Given the description of an element on the screen output the (x, y) to click on. 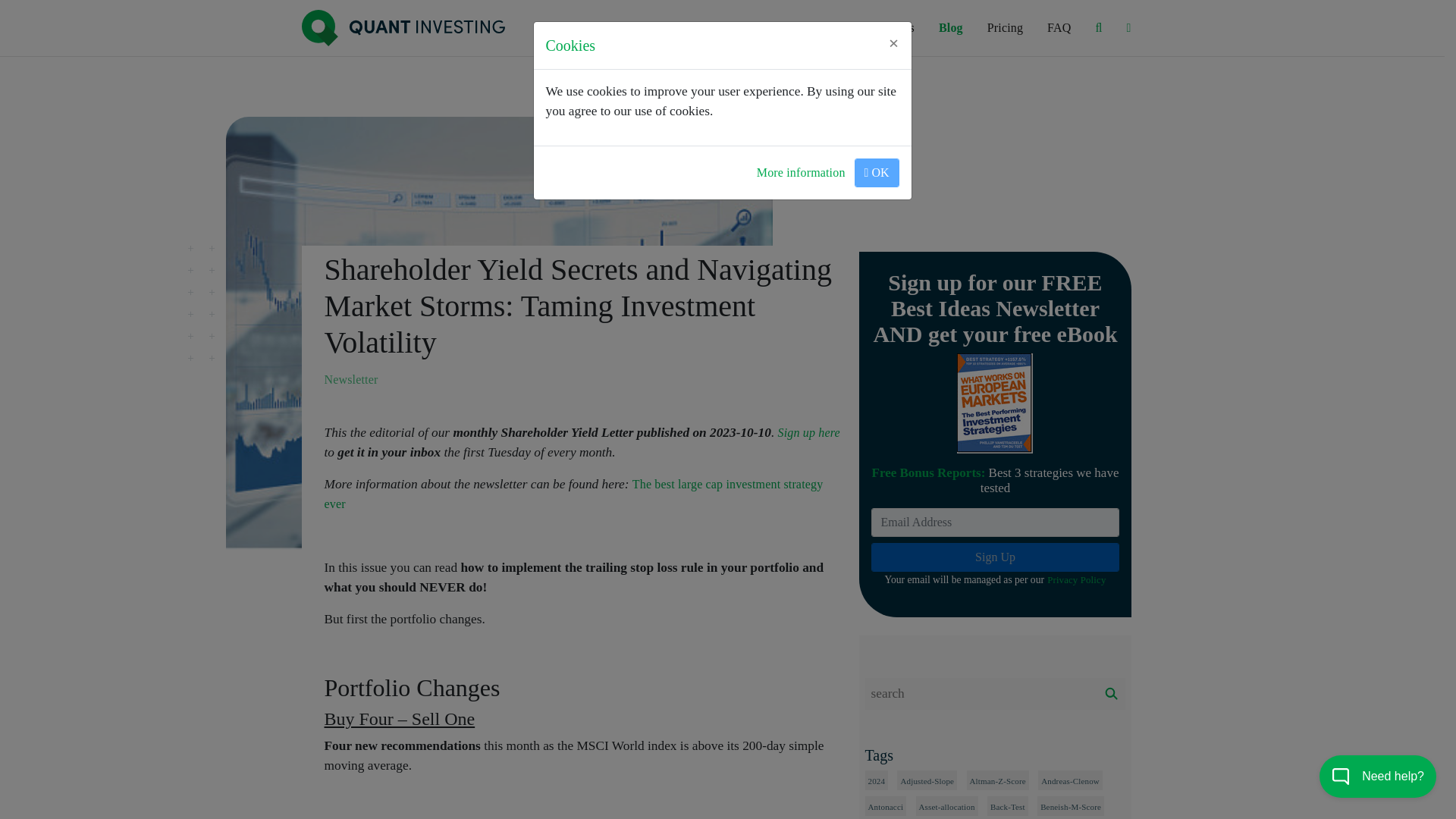
2024 (876, 780)
Altman-Z-Score (997, 780)
Website support platform help button (1377, 777)
FAQ (1059, 28)
Back-Test (1007, 806)
Adjusted-Slope (926, 780)
Privacy Policy (1075, 578)
Frequently Asked Questions (1059, 28)
Beneish-M-Score (1069, 806)
Search in site content (1098, 28)
Subscriber Login (1127, 28)
Antonacci (884, 806)
The best large cap investment strategy ever (574, 493)
Pricing (1005, 28)
Newsletter (351, 379)
